Given the description of an element on the screen output the (x, y) to click on. 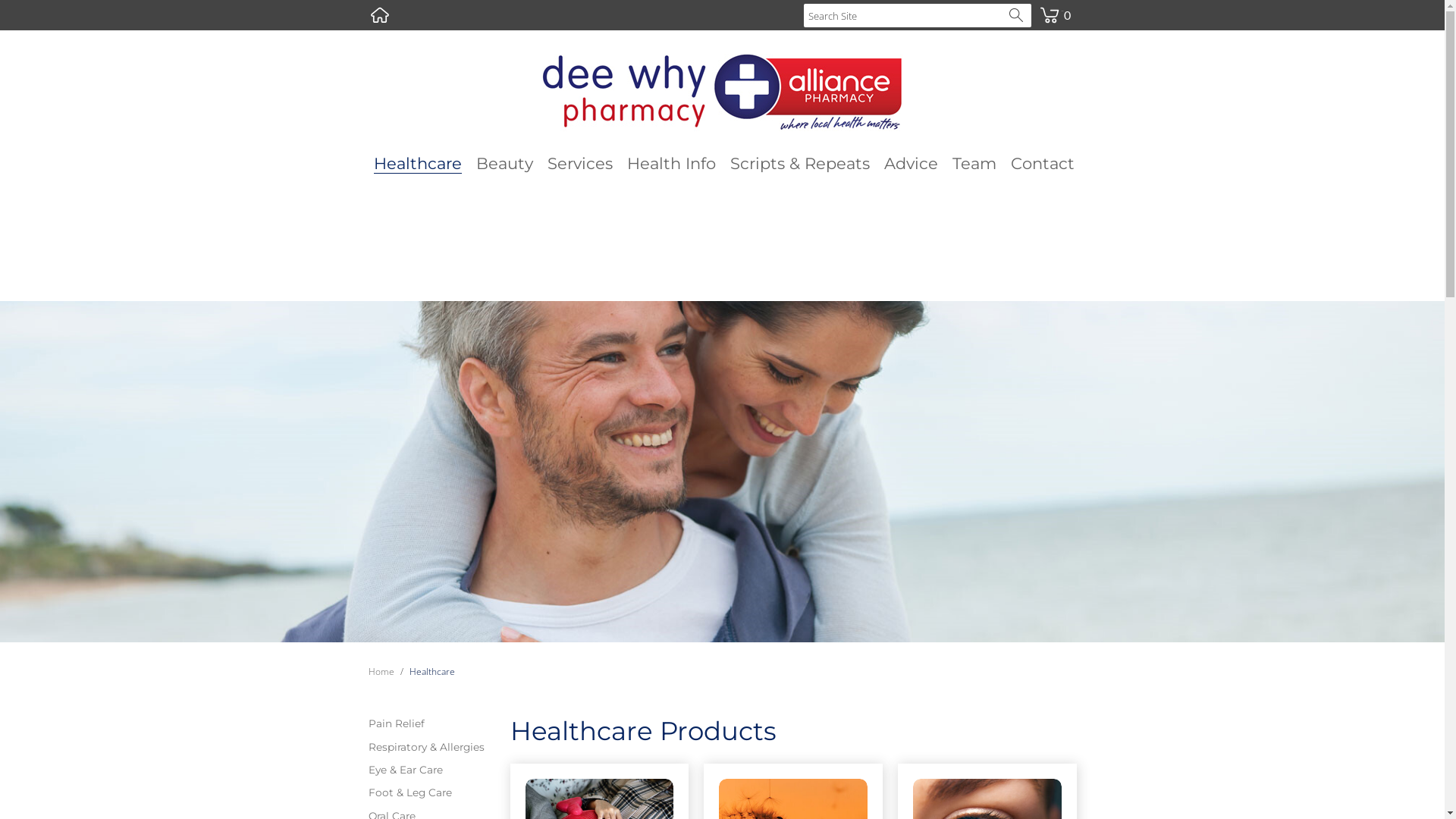
Healthcare Element type: text (432, 671)
Services Element type: text (579, 162)
Contact Element type: text (1041, 162)
  0 Element type: text (1054, 6)
Healthcare Element type: text (417, 163)
Home Element type: text (381, 671)
Beauty Element type: text (504, 162)
Respiratory & Allergies Element type: text (430, 746)
Advice Element type: text (911, 162)
Pain Relief Element type: text (430, 723)
Home Element type: hover (379, 15)
Team Element type: text (974, 162)
Health Info Element type: text (670, 162)
Eye & Ear Care Element type: text (430, 769)
Scripts & Repeats Element type: text (799, 162)
  Element type: text (379, 15)
Foot & Leg Care Element type: text (430, 792)
